Given the description of an element on the screen output the (x, y) to click on. 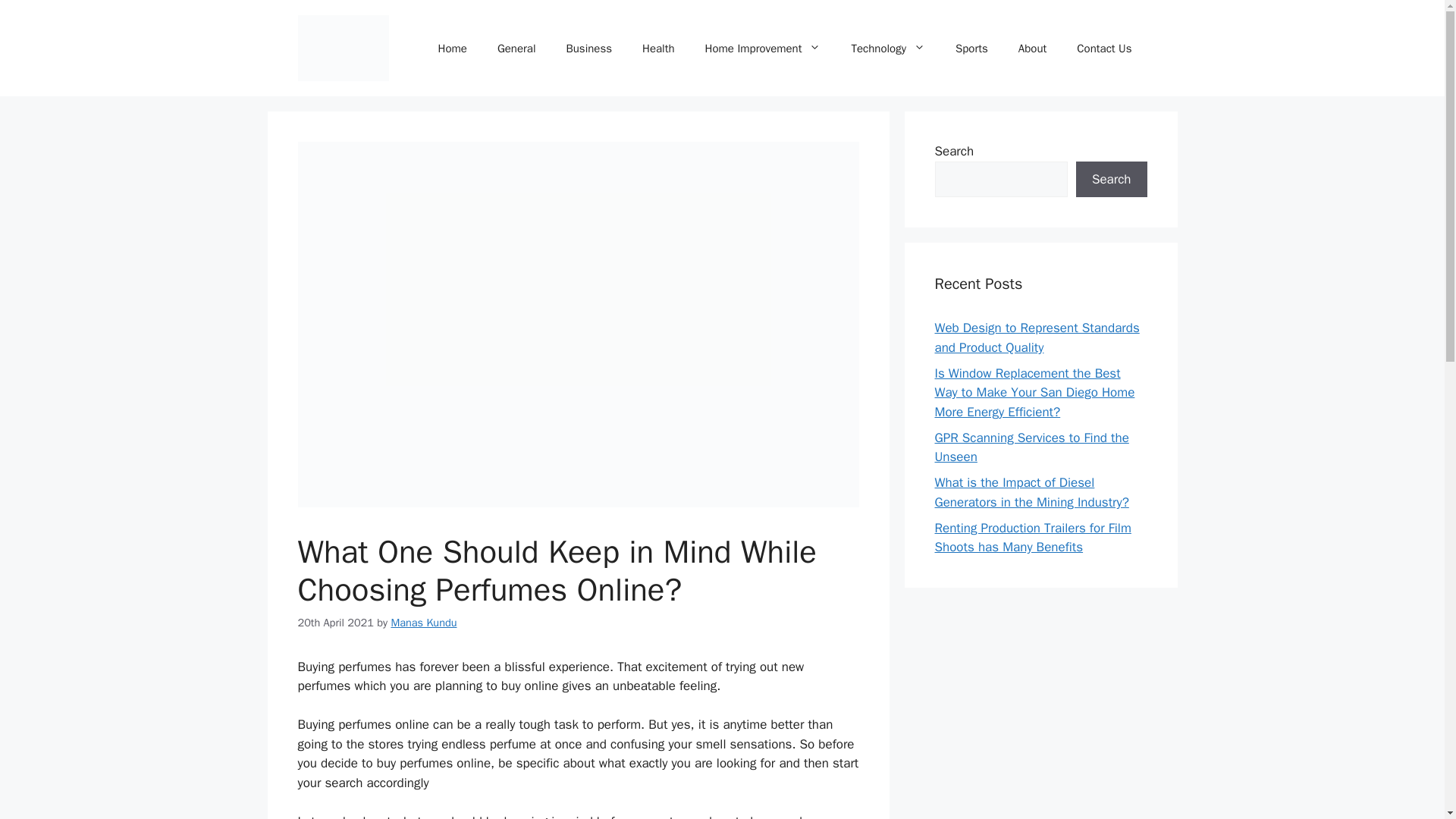
General (516, 48)
Web Design to Represent Standards and Product Quality (1036, 337)
Business (588, 48)
Sports (971, 48)
About (1032, 48)
Health (658, 48)
GPR Scanning Services to Find the Unseen (1031, 447)
Home Improvement (762, 48)
Manas Kundu (423, 622)
Contact Us (1104, 48)
Home (452, 48)
View all posts by Manas Kundu (423, 622)
Technology (887, 48)
